Given the description of an element on the screen output the (x, y) to click on. 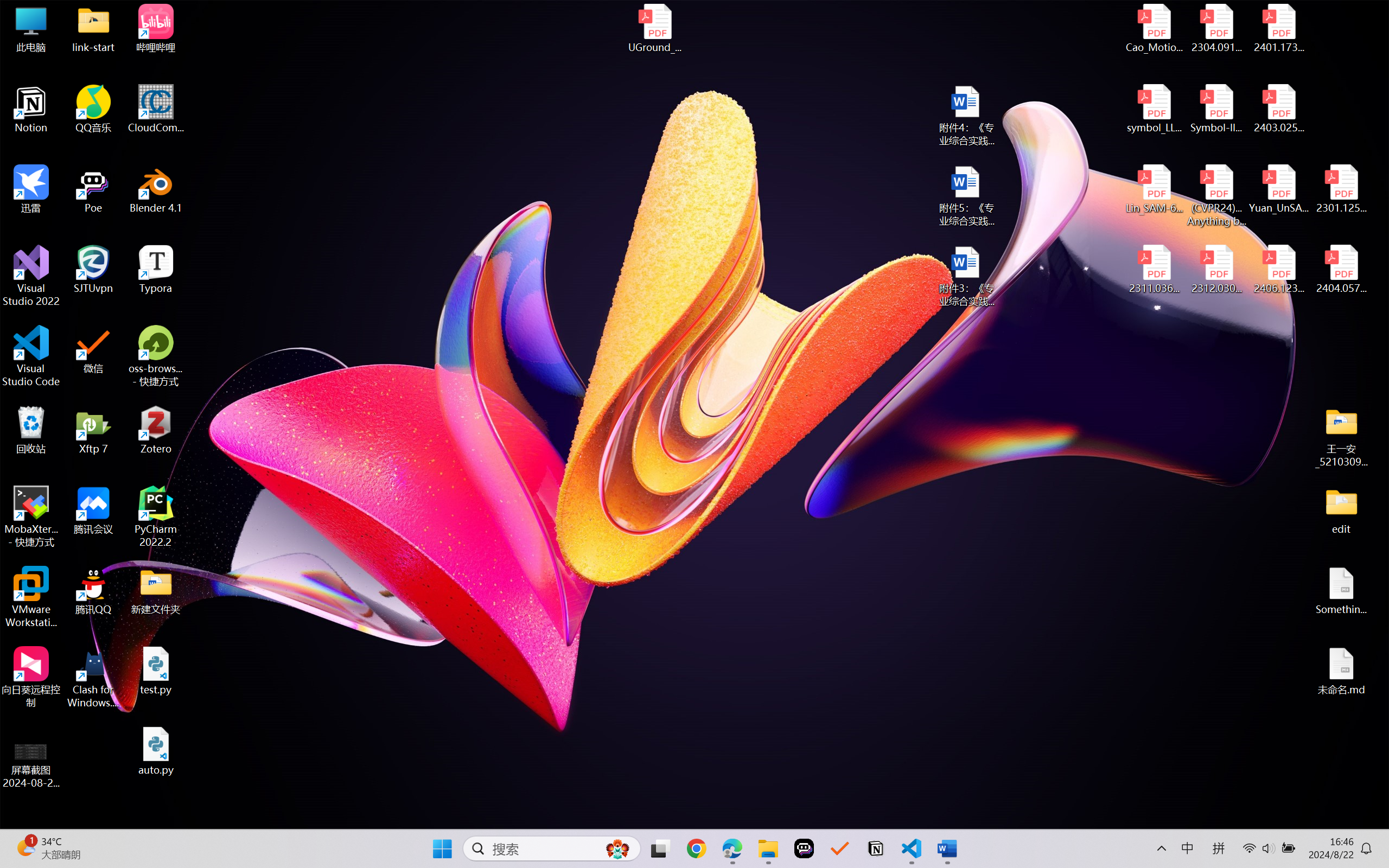
UGround_paper.pdf (654, 28)
2304.09121v3.pdf (1216, 28)
Typora (156, 269)
Google Chrome (696, 848)
2401.17399v1.pdf (1278, 28)
VMware Workstation Pro (31, 597)
